Given the description of an element on the screen output the (x, y) to click on. 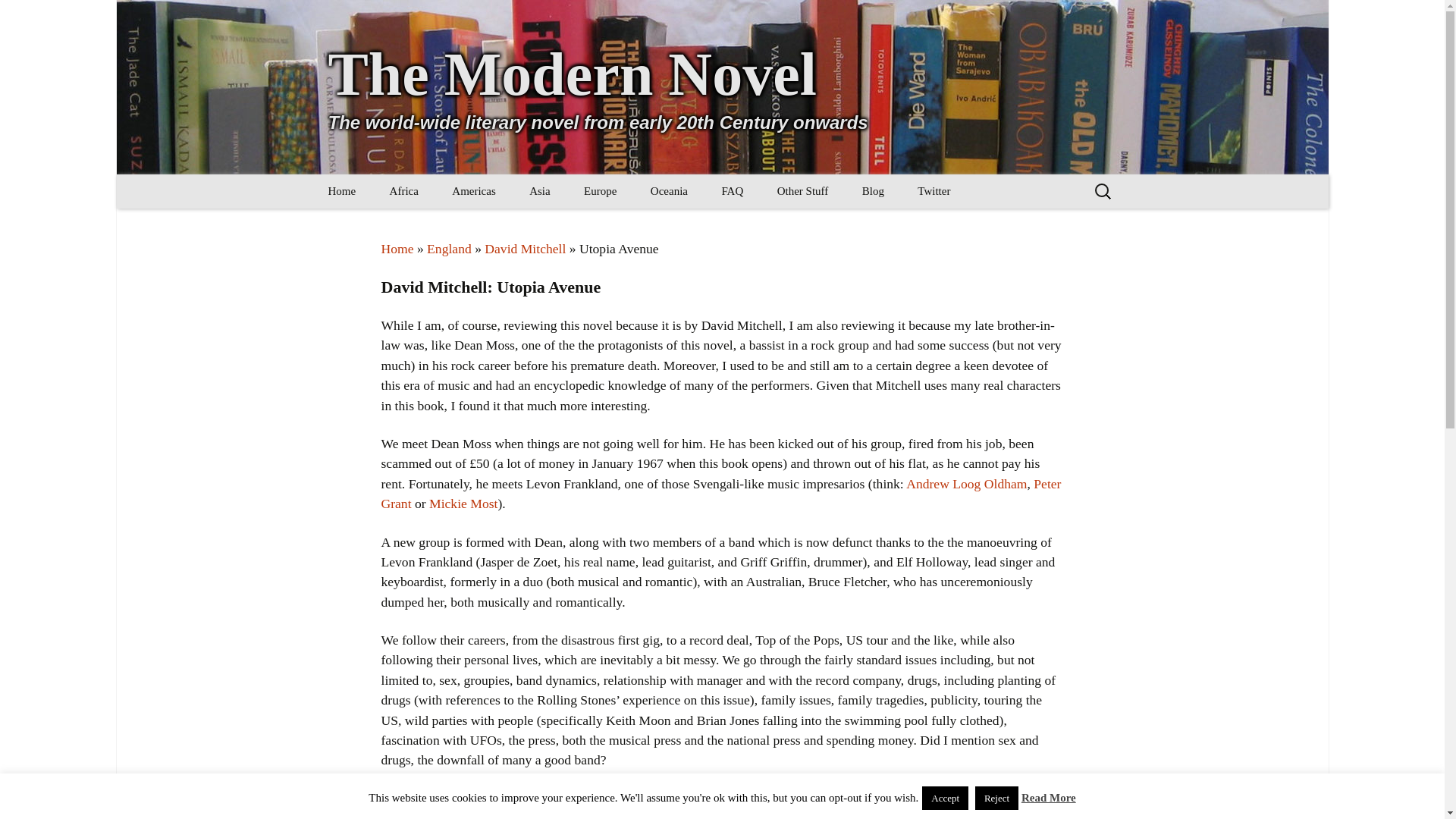
Other Stuff (802, 191)
My Book Lists (837, 225)
Africa (403, 191)
Peter Grant (720, 493)
FAQ (732, 191)
Oceania (668, 191)
Maghreb (449, 225)
Caribbean (512, 225)
David Mitchell (525, 248)
Americas (473, 191)
Search (18, 17)
Andrew Loog Oldham (965, 483)
Arab (589, 225)
Europe (600, 191)
